Given the description of an element on the screen output the (x, y) to click on. 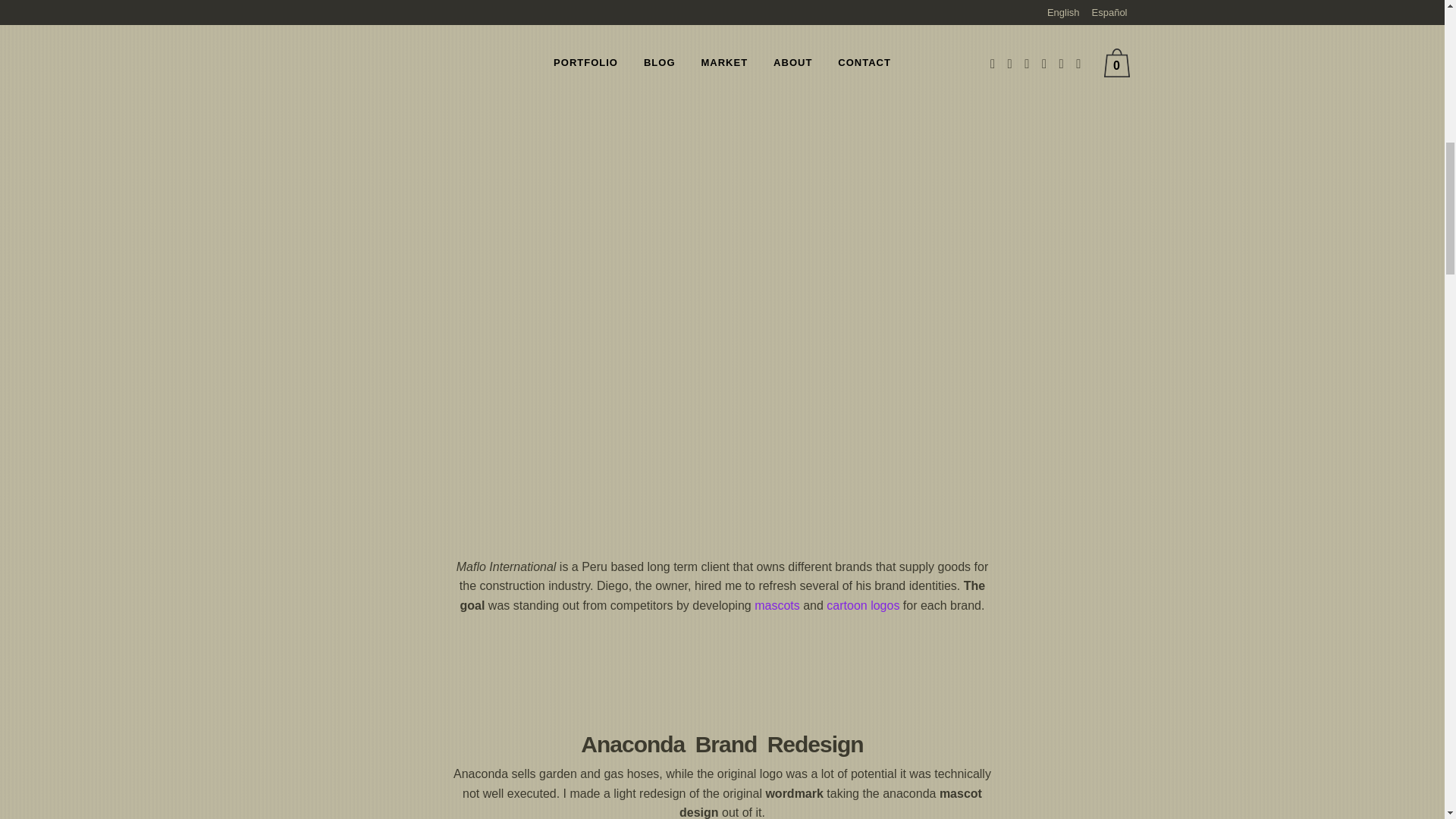
cartoon logos (861, 604)
mascots (776, 604)
